Given the description of an element on the screen output the (x, y) to click on. 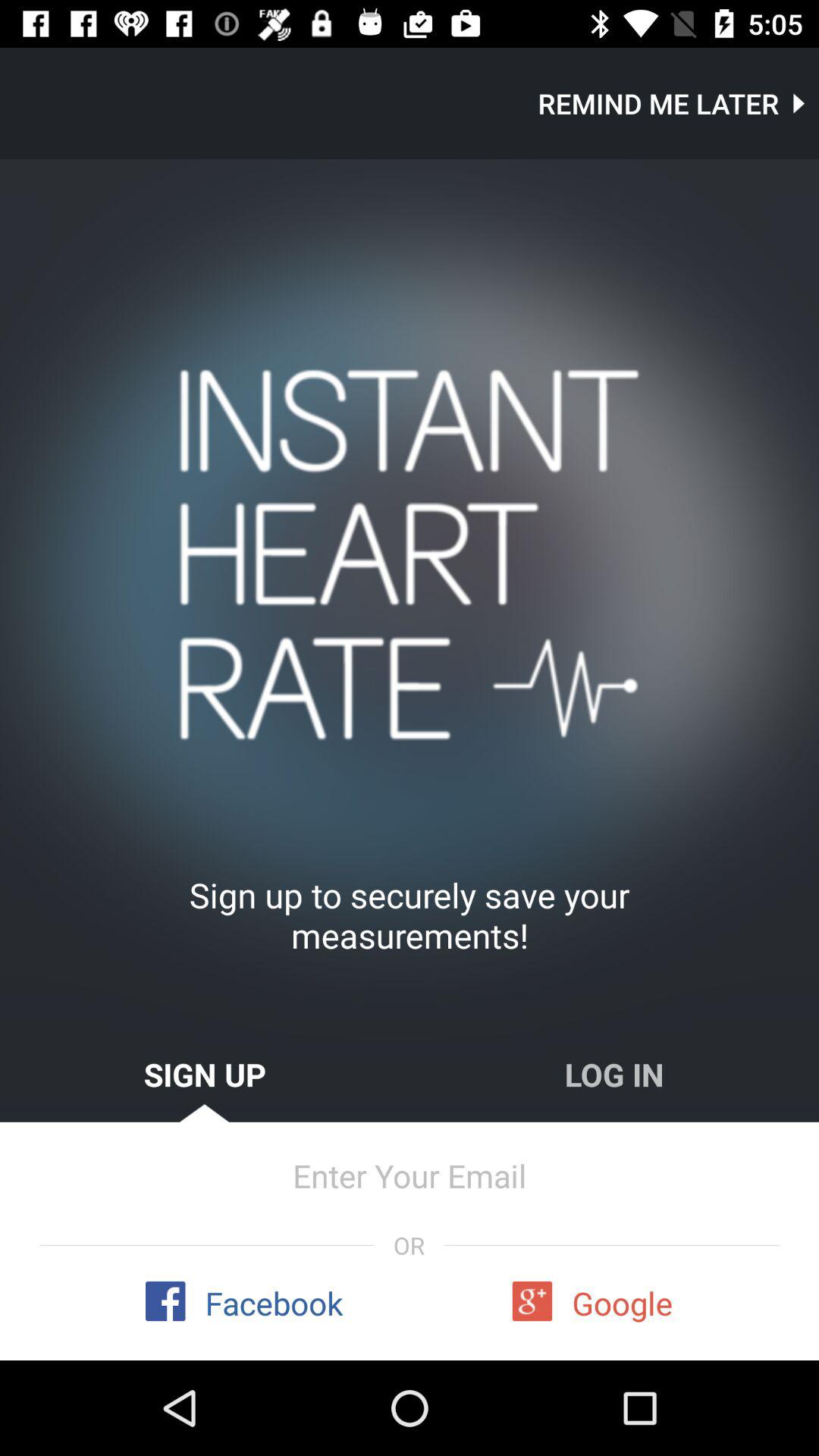
scroll until remind me later icon (678, 103)
